Given the description of an element on the screen output the (x, y) to click on. 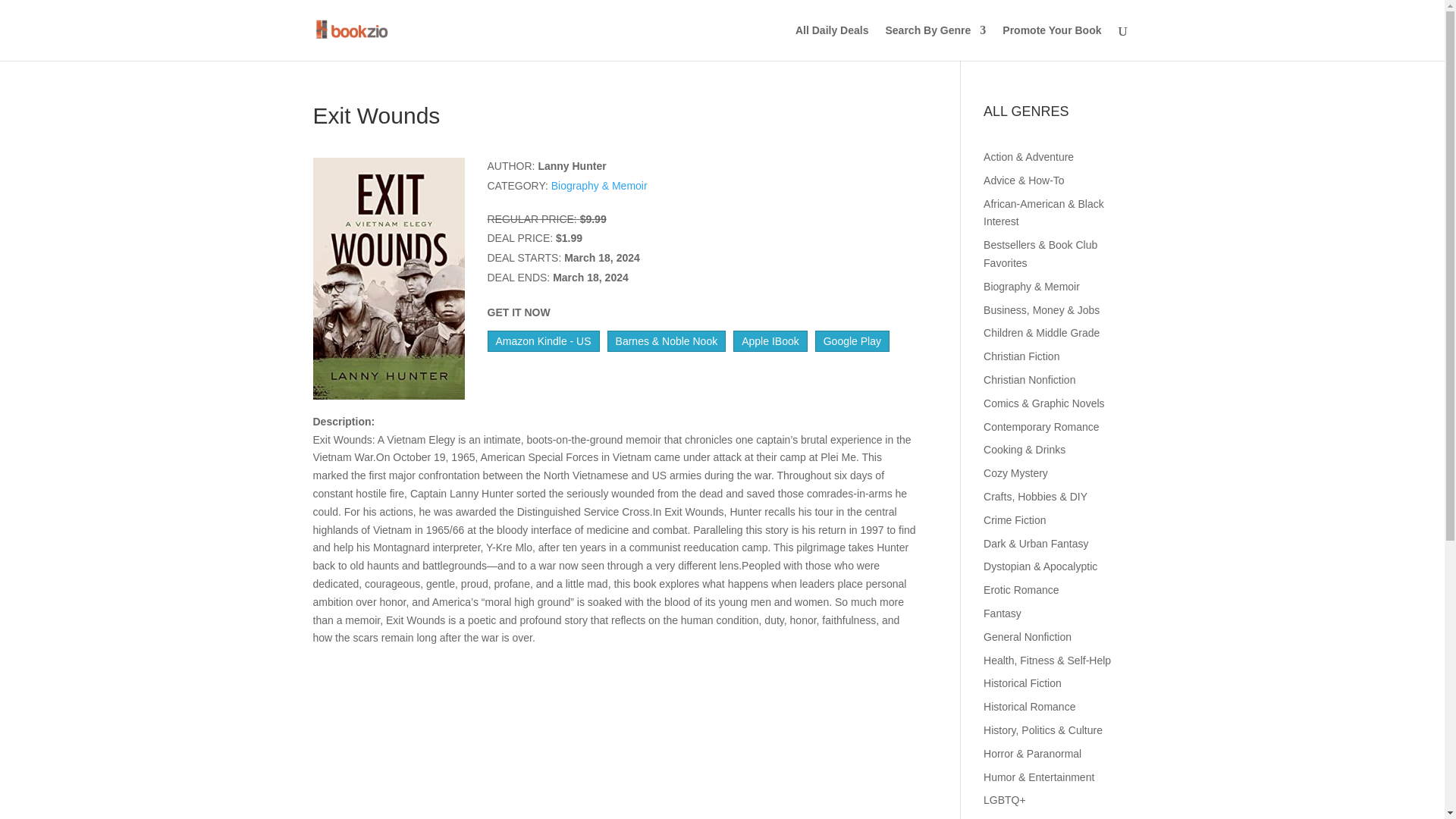
Amazon Kindle - US (542, 341)
All Daily Deals (831, 42)
Search By Genre (935, 42)
Contemporary Romance (1041, 426)
Promote Your Book (1051, 42)
Google Play (852, 341)
Apple IBook (770, 341)
Christian Nonfiction (1029, 379)
Christian Fiction (1021, 356)
Cozy Mystery (1016, 472)
